Given the description of an element on the screen output the (x, y) to click on. 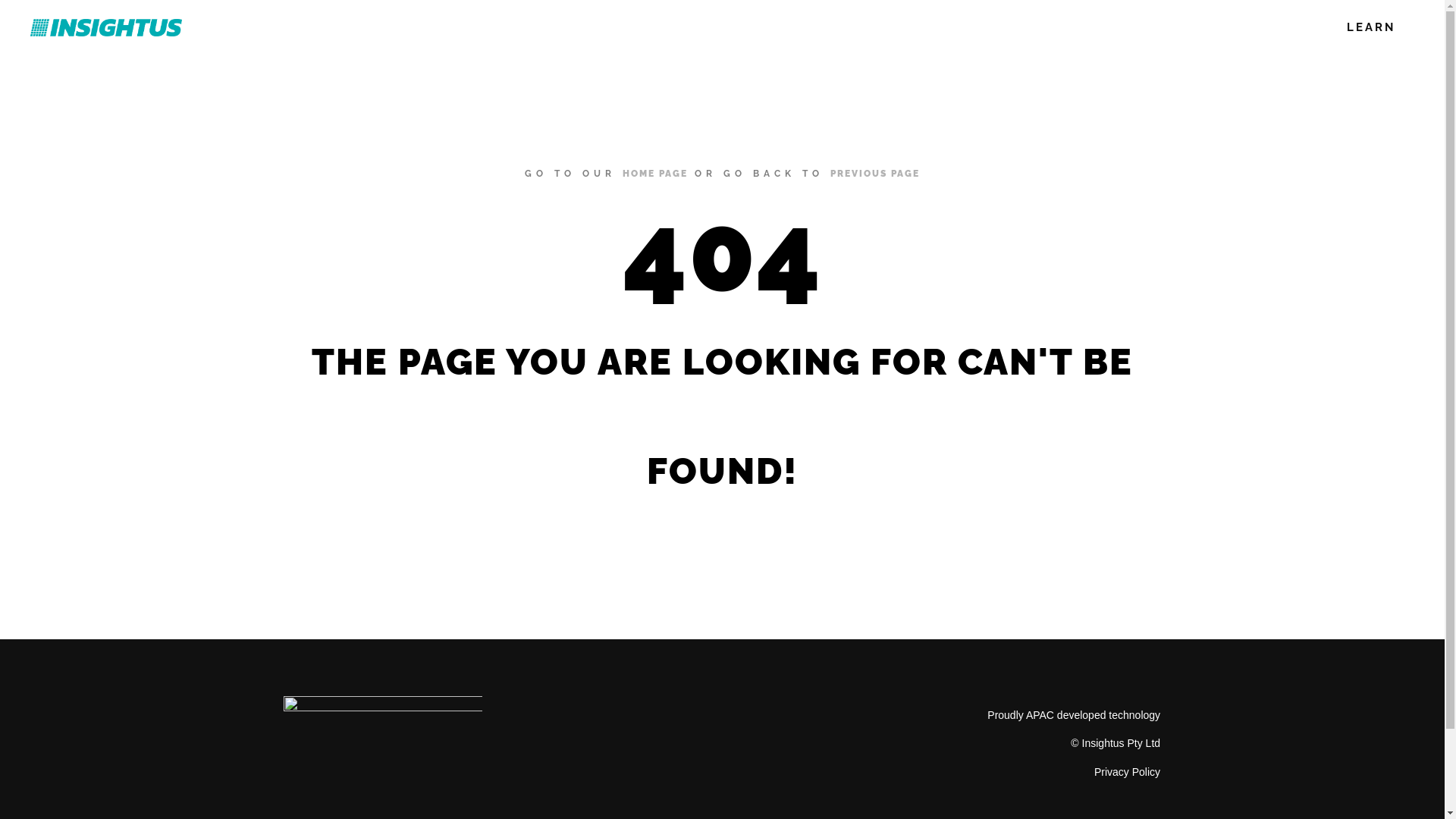
Insightus Element type: hover (106, 27)
LEARN Element type: text (1370, 27)
HOME PAGE Element type: text (654, 173)
PREVIOUS PAGE Element type: text (874, 173)
Privacy Policy Element type: text (1127, 771)
